Given the description of an element on the screen output the (x, y) to click on. 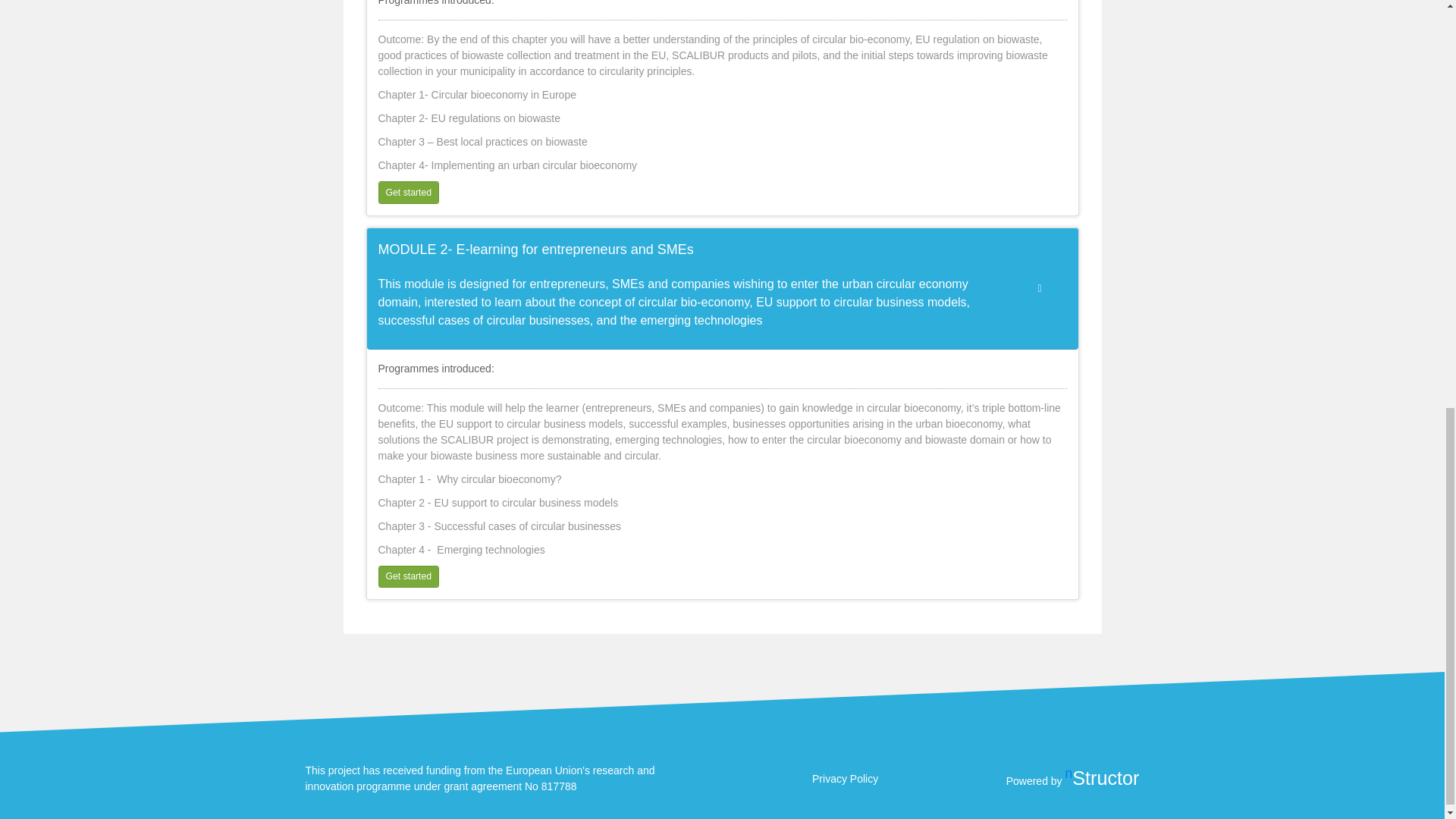
Get started (408, 191)
Privacy Policy (844, 778)
Get started (408, 576)
MODULE 2- E-learning for entrepreneurs and SMEs (687, 249)
